Given the description of an element on the screen output the (x, y) to click on. 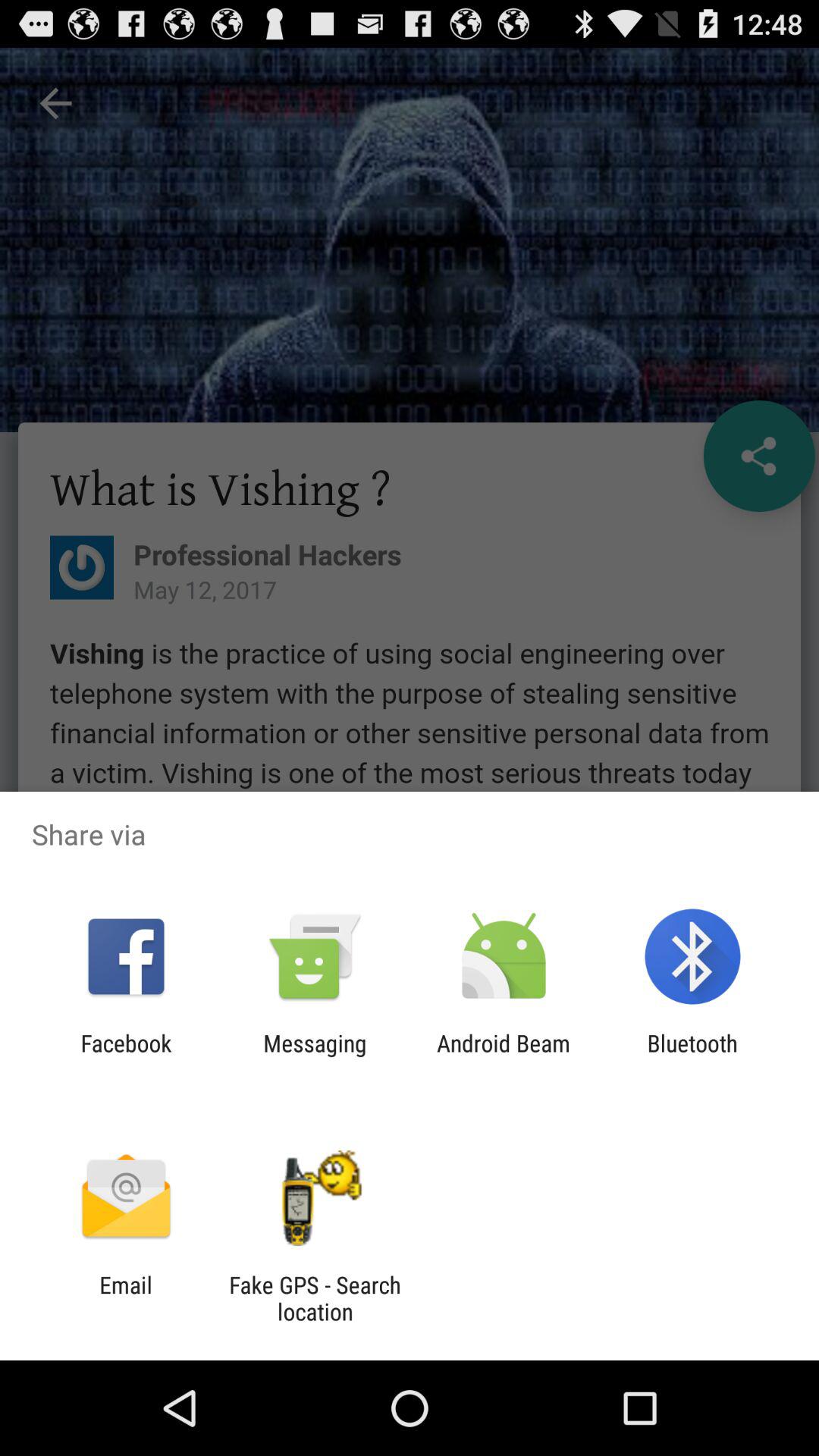
flip until bluetooth icon (692, 1056)
